Given the description of an element on the screen output the (x, y) to click on. 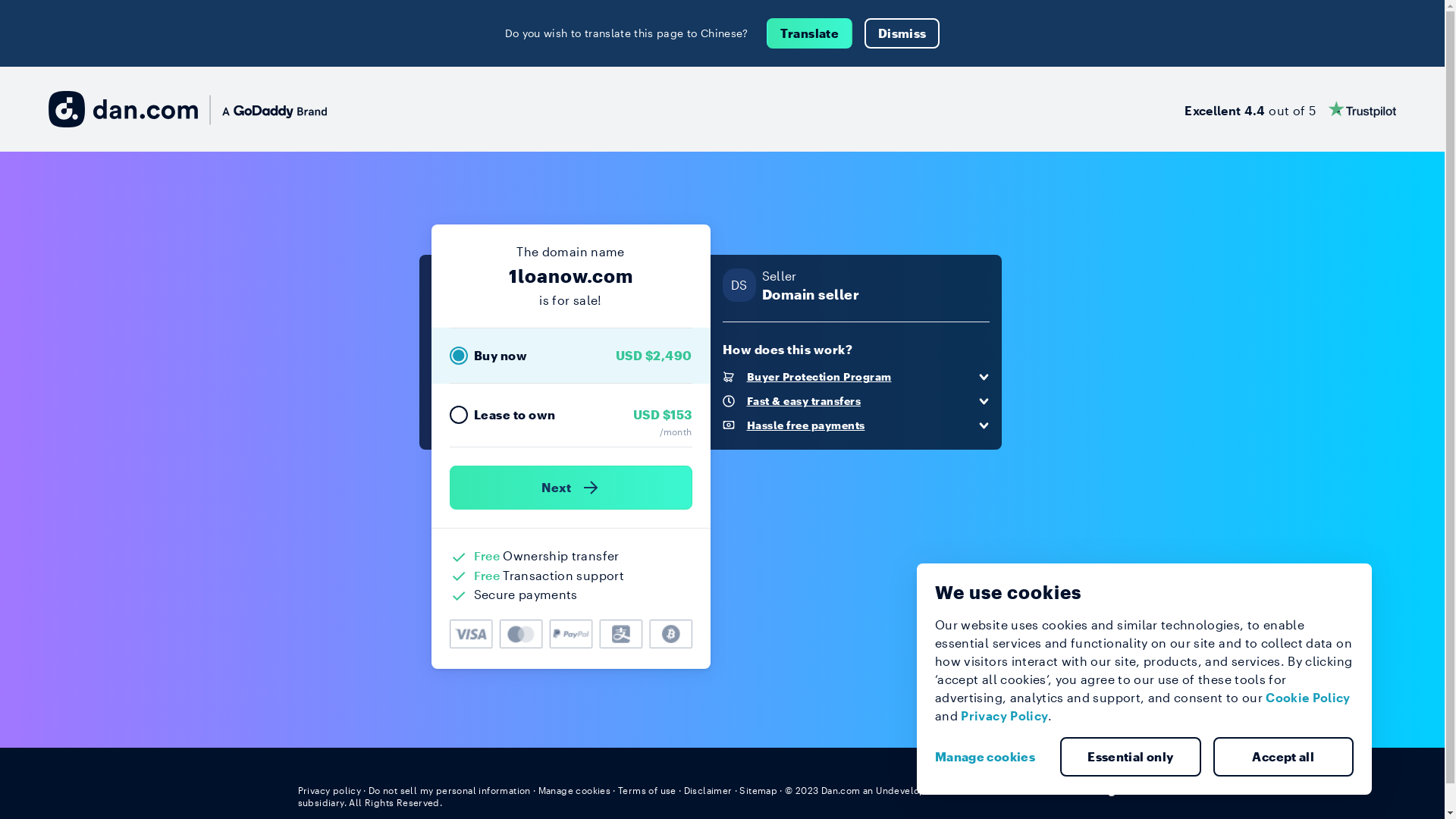
Excellent 4.4 out of 5 Element type: text (1290, 109)
Essential only Element type: text (1130, 756)
Accept all Element type: text (1283, 756)
Privacy policy Element type: text (328, 789)
Manage cookies Element type: text (991, 756)
Sitemap Element type: text (758, 789)
Manage cookies Element type: text (574, 790)
Do not sell my personal information Element type: text (449, 789)
Privacy Policy Element type: text (1004, 715)
Terms of use Element type: text (647, 789)
Next
) Element type: text (569, 487)
Dismiss Element type: text (901, 33)
Cookie Policy Element type: text (1307, 697)
Disclaimer Element type: text (708, 789)
Translate Element type: text (809, 33)
English Element type: text (1119, 789)
